Given the description of an element on the screen output the (x, y) to click on. 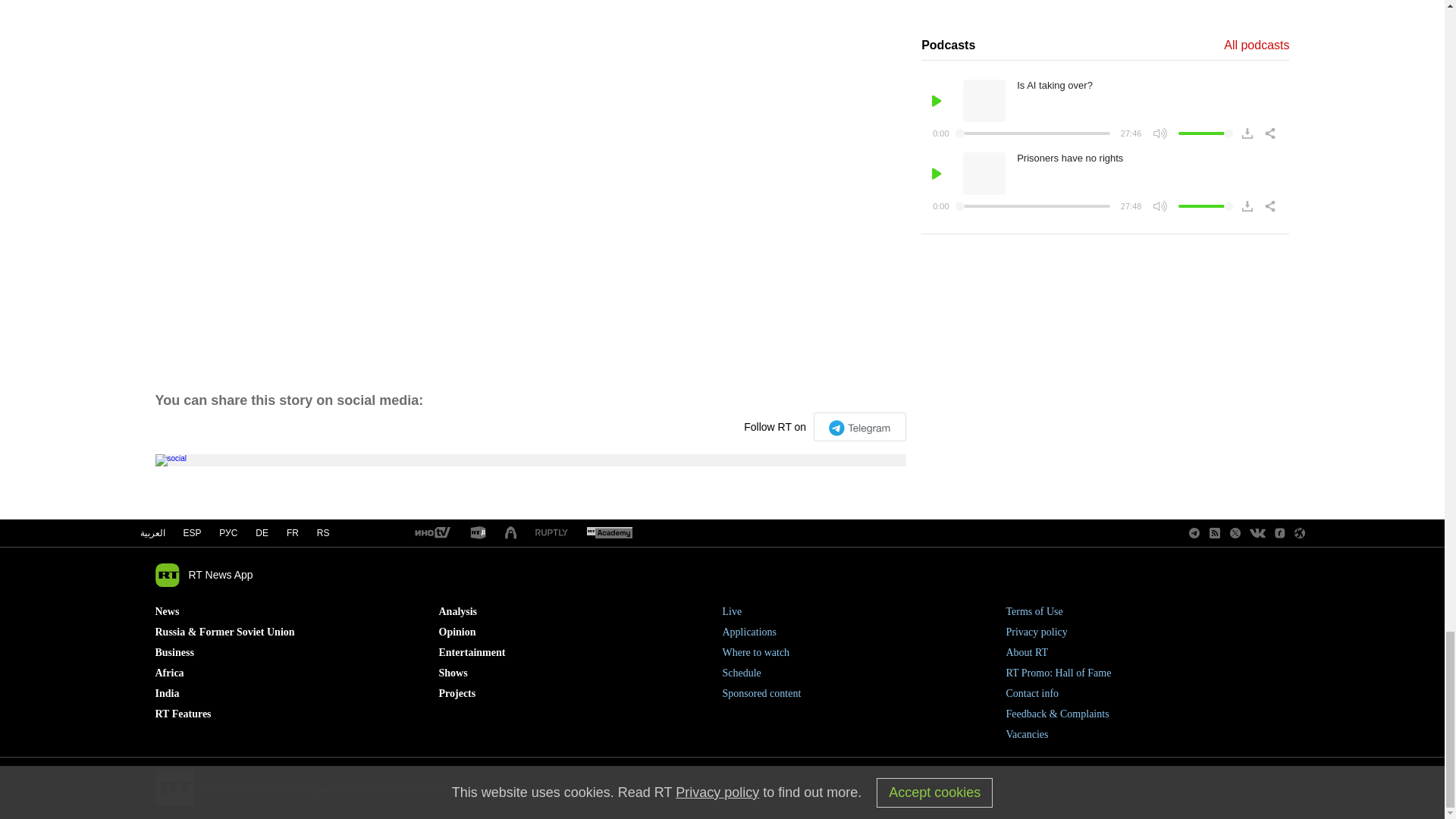
RT  (431, 533)
RT  (551, 533)
RT  (478, 533)
RT  (608, 533)
